Given the description of an element on the screen output the (x, y) to click on. 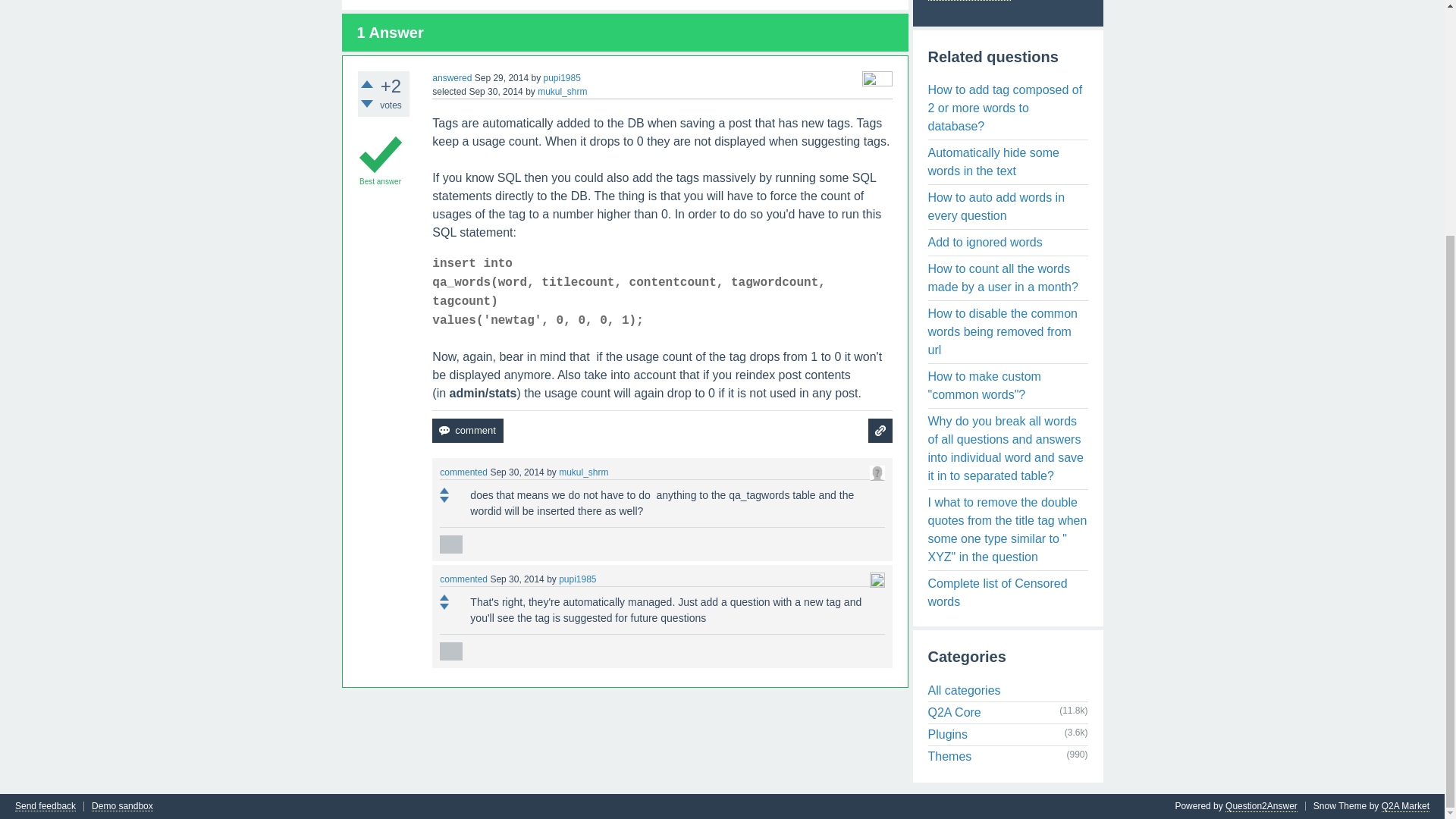
reply (451, 544)
Reply to this comment (451, 544)
Click to vote up (366, 83)
reply (451, 651)
Click to vote down (366, 103)
Click to vote up (443, 597)
Click to vote down (443, 499)
Add a comment on this answer (467, 430)
comment (467, 430)
Click to vote up (443, 490)
